Given the description of an element on the screen output the (x, y) to click on. 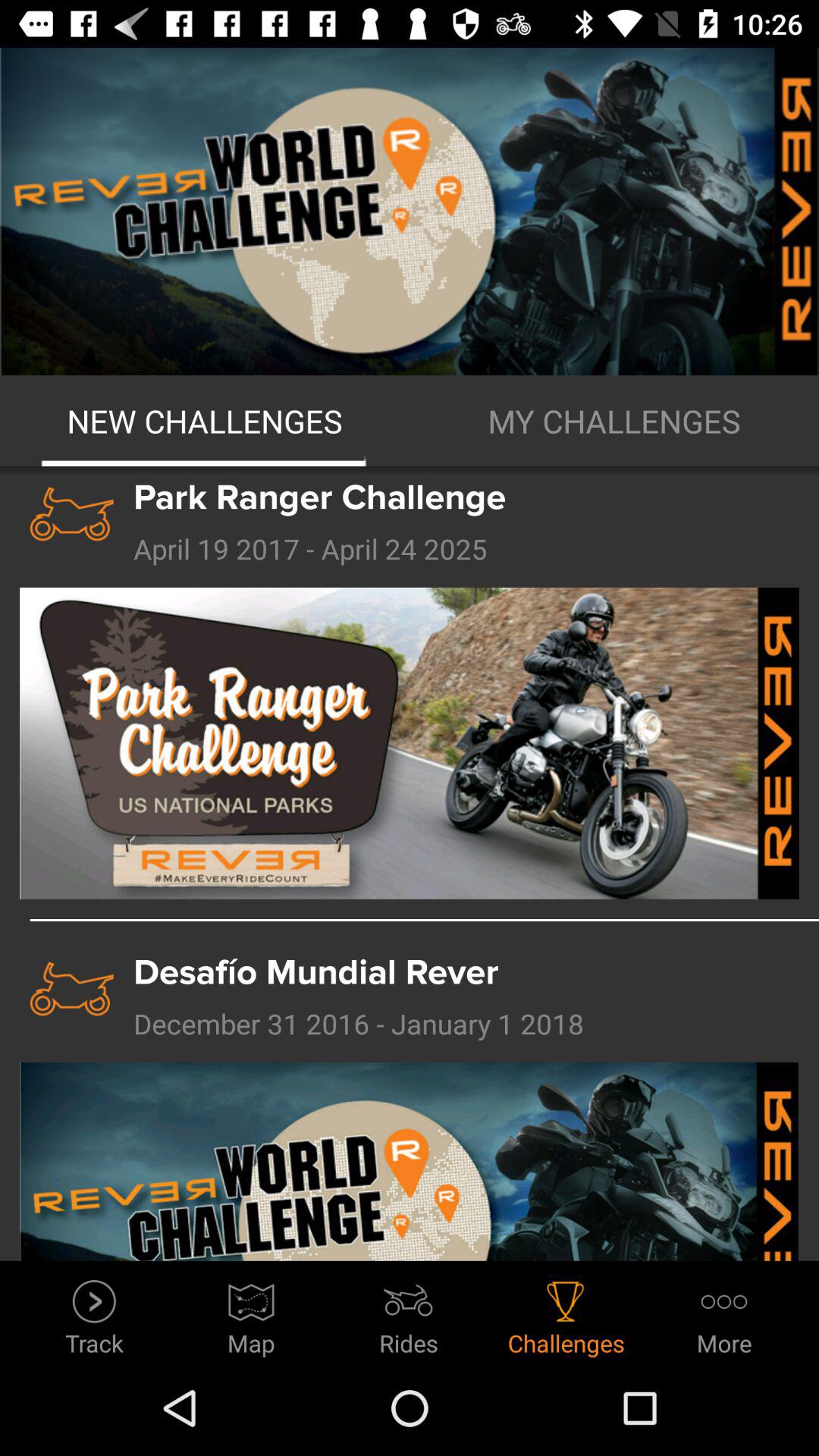
swipe to map (251, 1313)
